Given the description of an element on the screen output the (x, y) to click on. 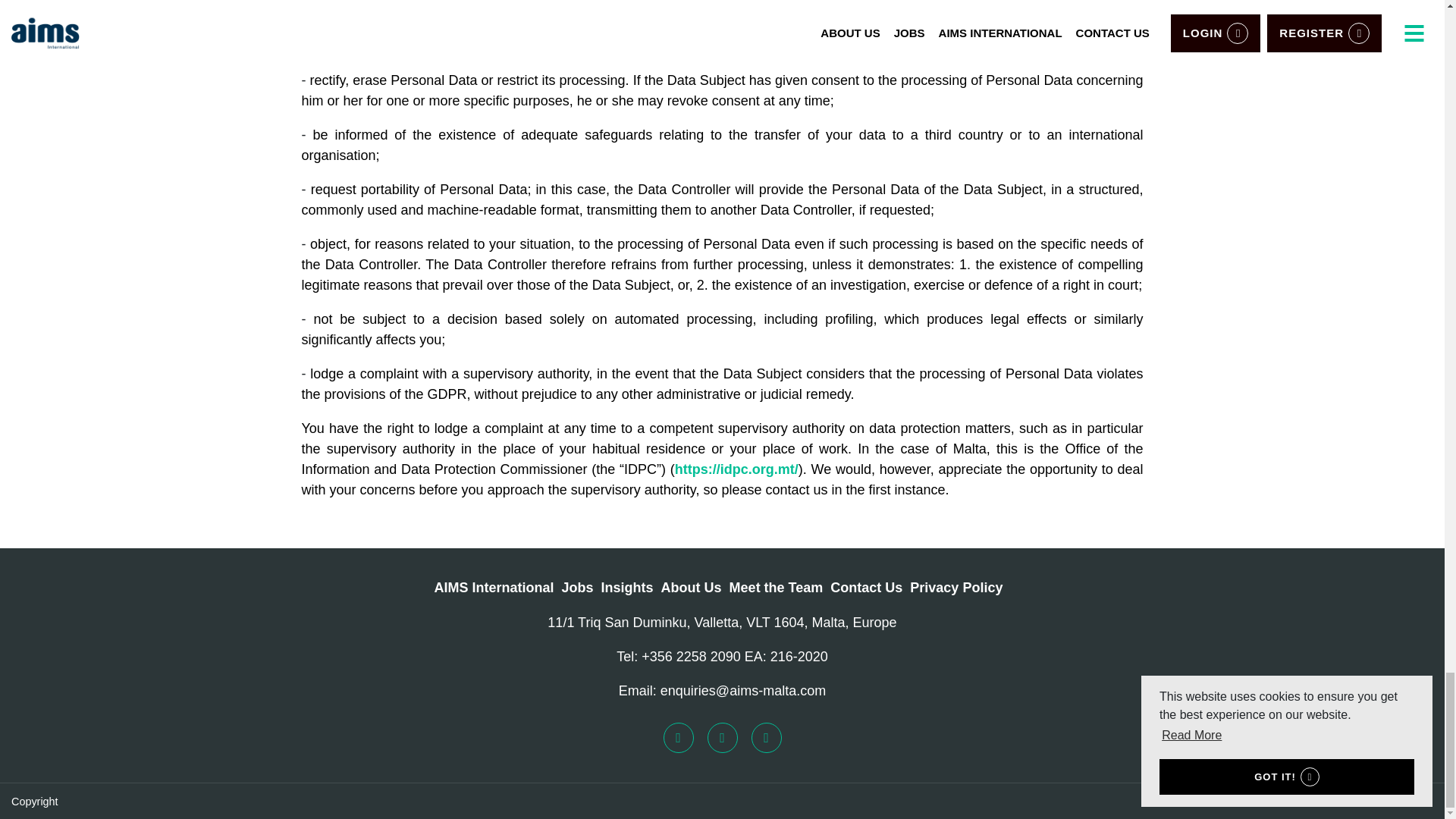
AIMS International (493, 587)
Privacy Policy (956, 587)
About Us (691, 587)
Insights (627, 587)
Meet the Team (776, 587)
Contact Us (865, 587)
Jobs (578, 587)
